Given the description of an element on the screen output the (x, y) to click on. 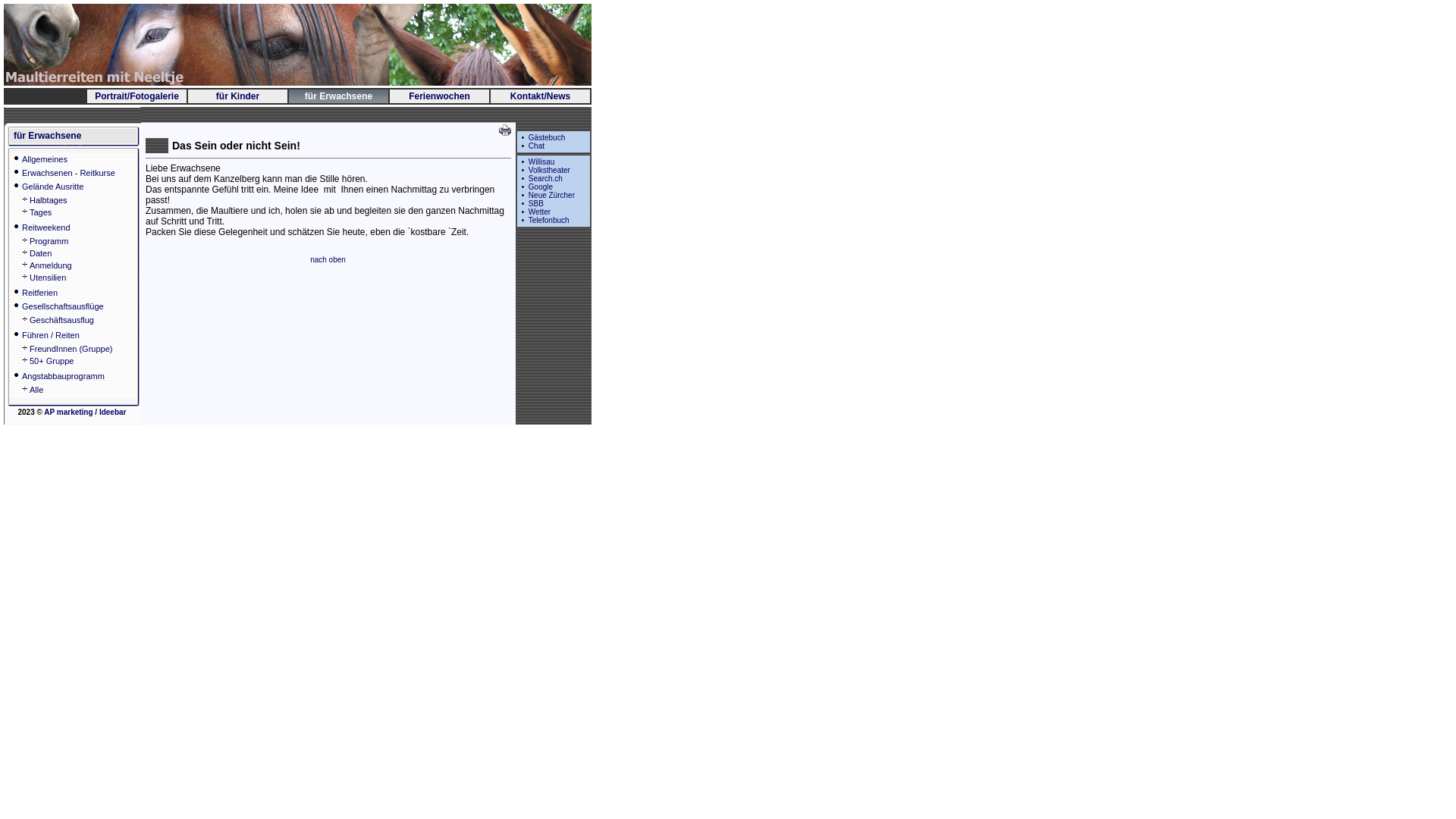
Search.ch Element type: text (545, 178)
50+ Gruppe Element type: text (51, 360)
SBB Element type: text (535, 203)
Telefonbuch Element type: text (548, 220)
Tages Element type: text (40, 211)
Reitferien Element type: text (39, 292)
Anmeldung Element type: text (50, 264)
nach oben Element type: text (327, 259)
Halbtages Element type: text (48, 199)
Volkstheater Element type: text (549, 170)
Erwachsenen - Reitkurse Element type: text (68, 172)
Chat Element type: text (536, 145)
AP marketing / Ideebar Element type: text (84, 411)
Alle Element type: text (36, 389)
FreundInnen (Gruppe) Element type: text (70, 348)
Portrait/Fotogalerie Element type: text (136, 96)
Kontakt/News Element type: text (540, 96)
Allgemeines Element type: text (44, 158)
Willisau Element type: text (541, 161)
Google Element type: text (540, 186)
Daten Element type: text (40, 252)
Reitweekend Element type: text (45, 227)
Ferienwochen Element type: text (439, 96)
. Element type: text (70, 420)
Programm Element type: text (48, 240)
Utensilien Element type: text (47, 277)
Wetter Element type: text (539, 211)
Angstabbauprogramm Element type: text (62, 375)
